Given the description of an element on the screen output the (x, y) to click on. 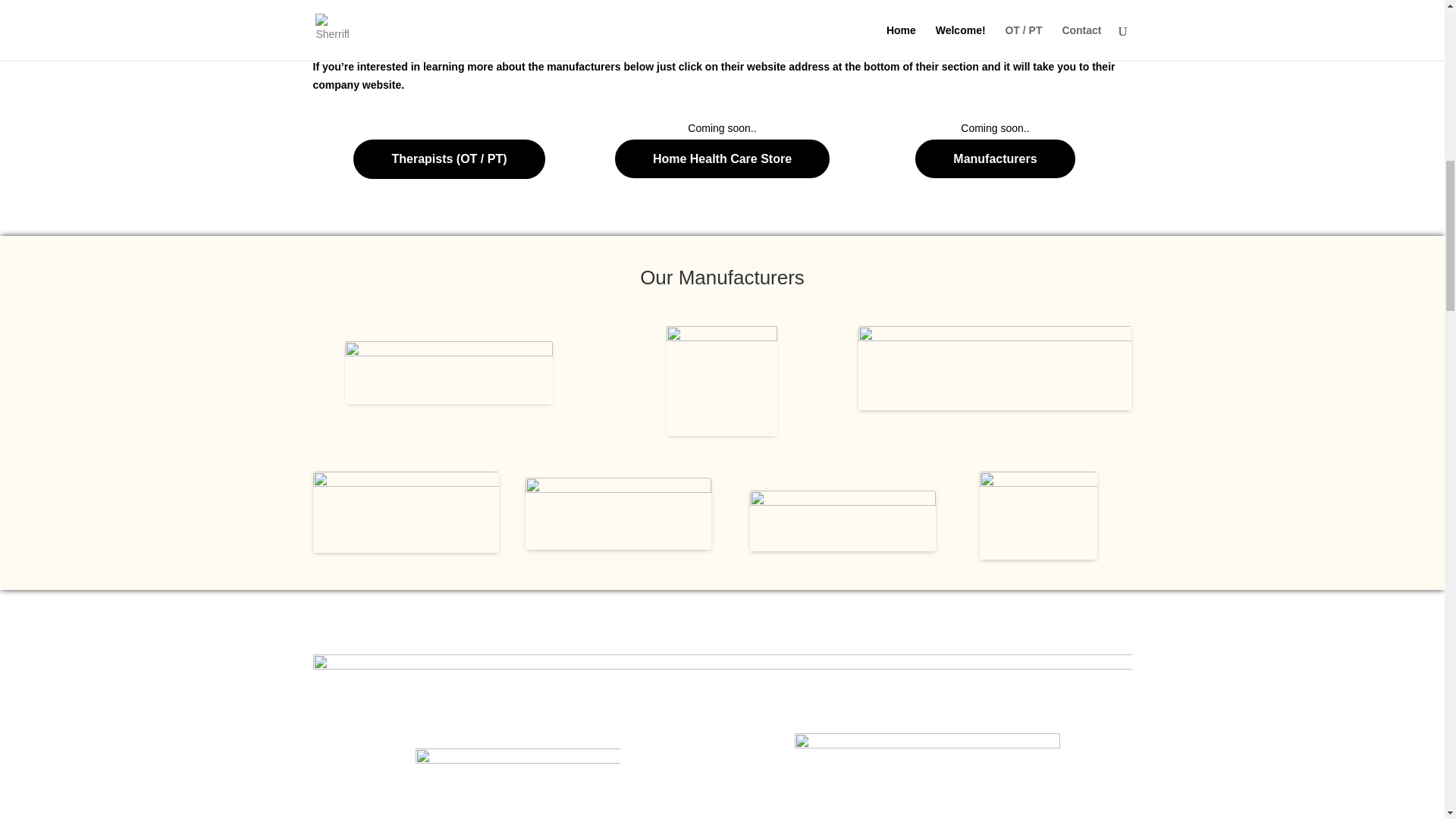
robswalkers-1 (1038, 515)
Skil-care Logo (449, 372)
mapleleafwheelchair (995, 367)
jaide-products (406, 511)
mapleleafwheelchair (517, 779)
Manufacturers (994, 158)
Home Health Care Store (721, 158)
website-breaks-gold-silver-on-black-8.5x0.6-png-1 (722, 682)
mobbhhc (721, 380)
SAM Medical Logo (618, 513)
